Given the description of an element on the screen output the (x, y) to click on. 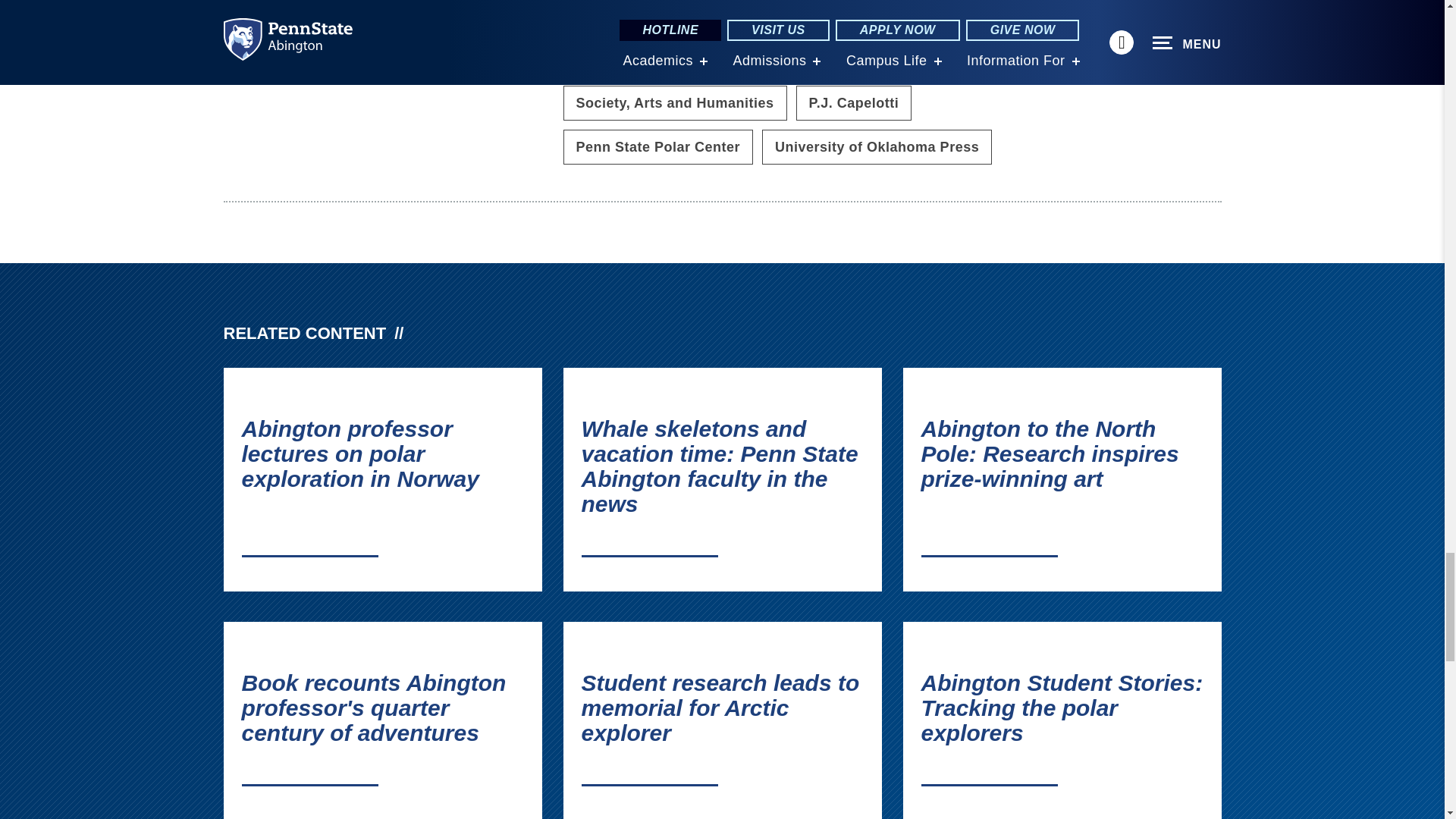
Content tagged with Academics (612, 16)
Content tagged with University of Oklahoma Press (876, 146)
Content tagged with Faculty Achievement (950, 16)
Content tagged with Penn State Polar Center (657, 146)
Content tagged with Society and Culture (904, 58)
Content tagged with Impact (678, 58)
Content tagged with Research (768, 58)
Content tagged with Earth and Environment (764, 16)
Content tagged with Global (597, 58)
Content tagged with Society, Arts and Humanities (674, 102)
